Given the description of an element on the screen output the (x, y) to click on. 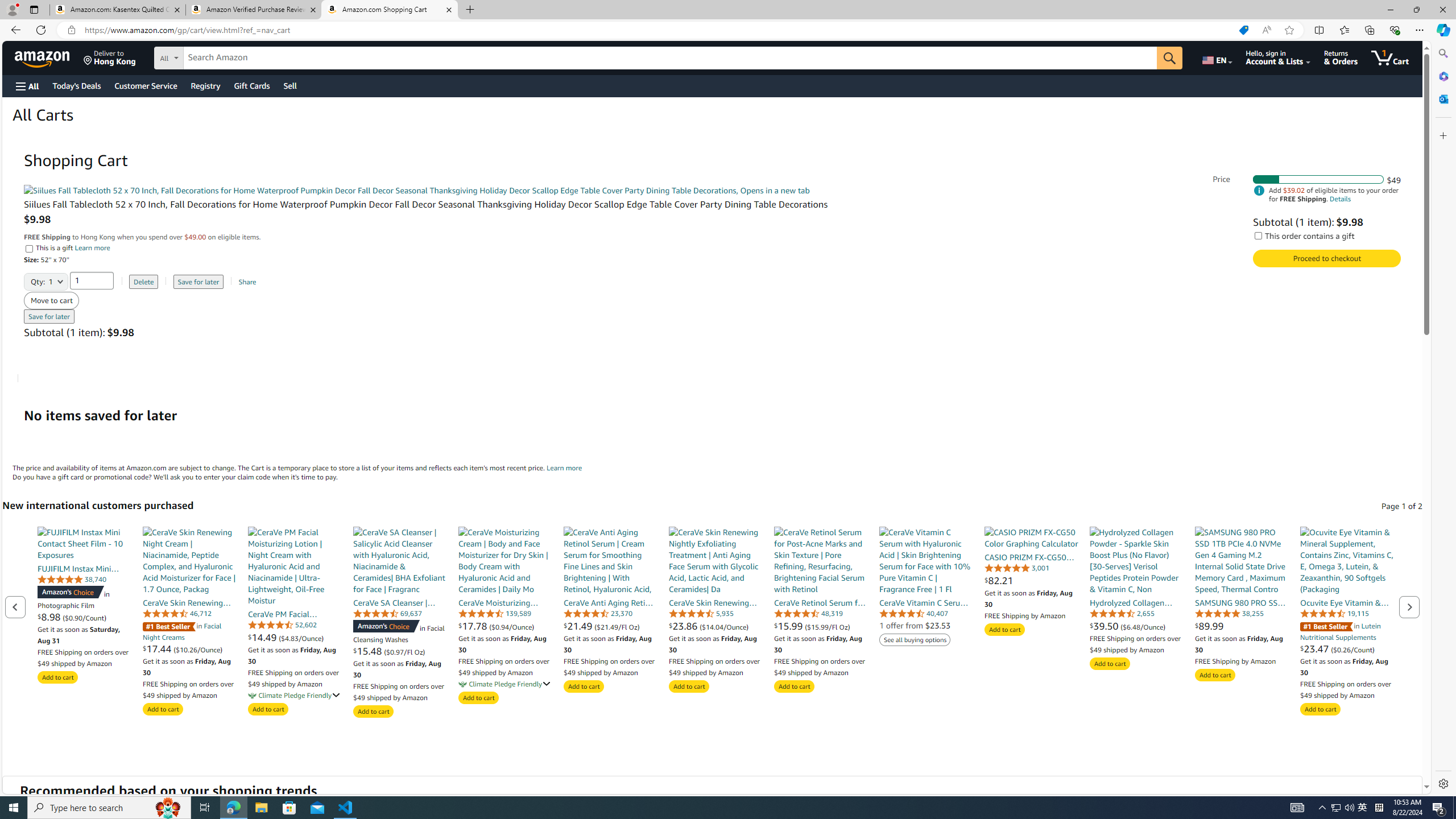
Gift Cards (251, 85)
$39.50  (1105, 625)
($0.26/Count) (1352, 648)
($0.94/Ounce) (511, 626)
CASIO PRIZM FX-CG50 Color Graphing Calculator (1031, 537)
FUJIFILM Instax Mini Contact Sheet Film - 10 Exposures (84, 543)
